Given the description of an element on the screen output the (x, y) to click on. 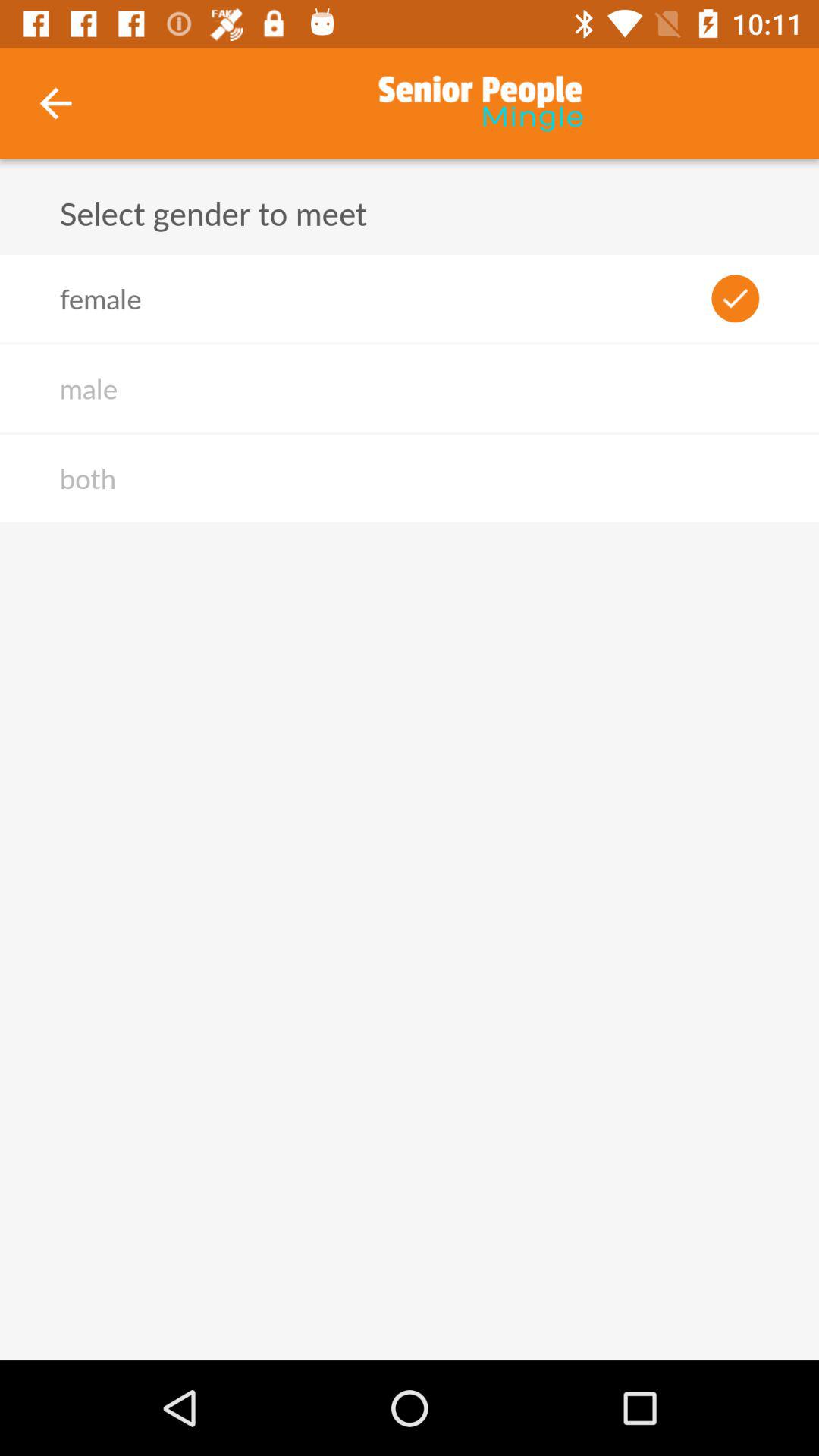
click icon at the top right corner (734, 298)
